Given the description of an element on the screen output the (x, y) to click on. 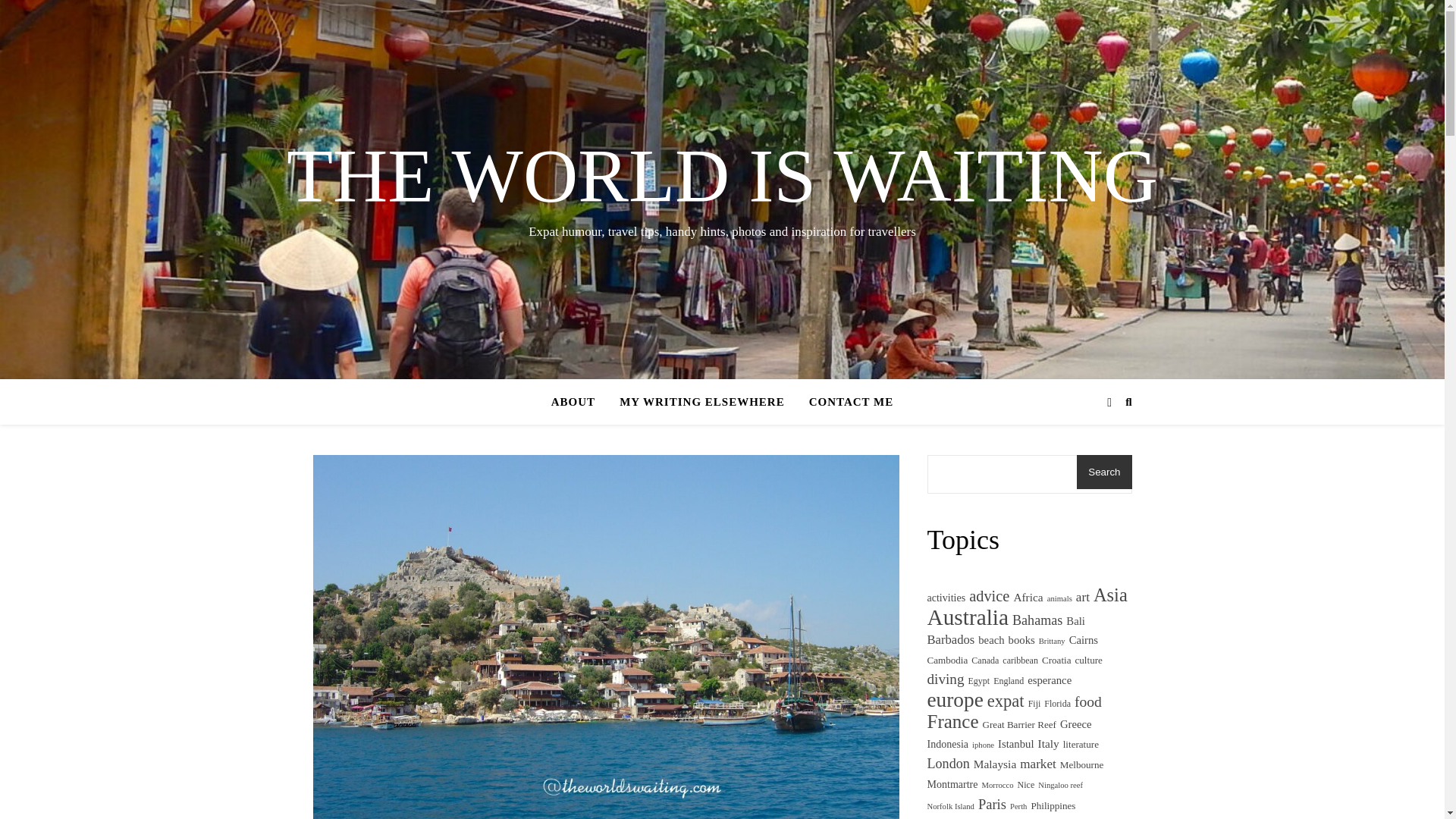
MY WRITING ELSEWHERE (701, 402)
CONTACT ME (844, 402)
ABOUT (579, 402)
